Given the description of an element on the screen output the (x, y) to click on. 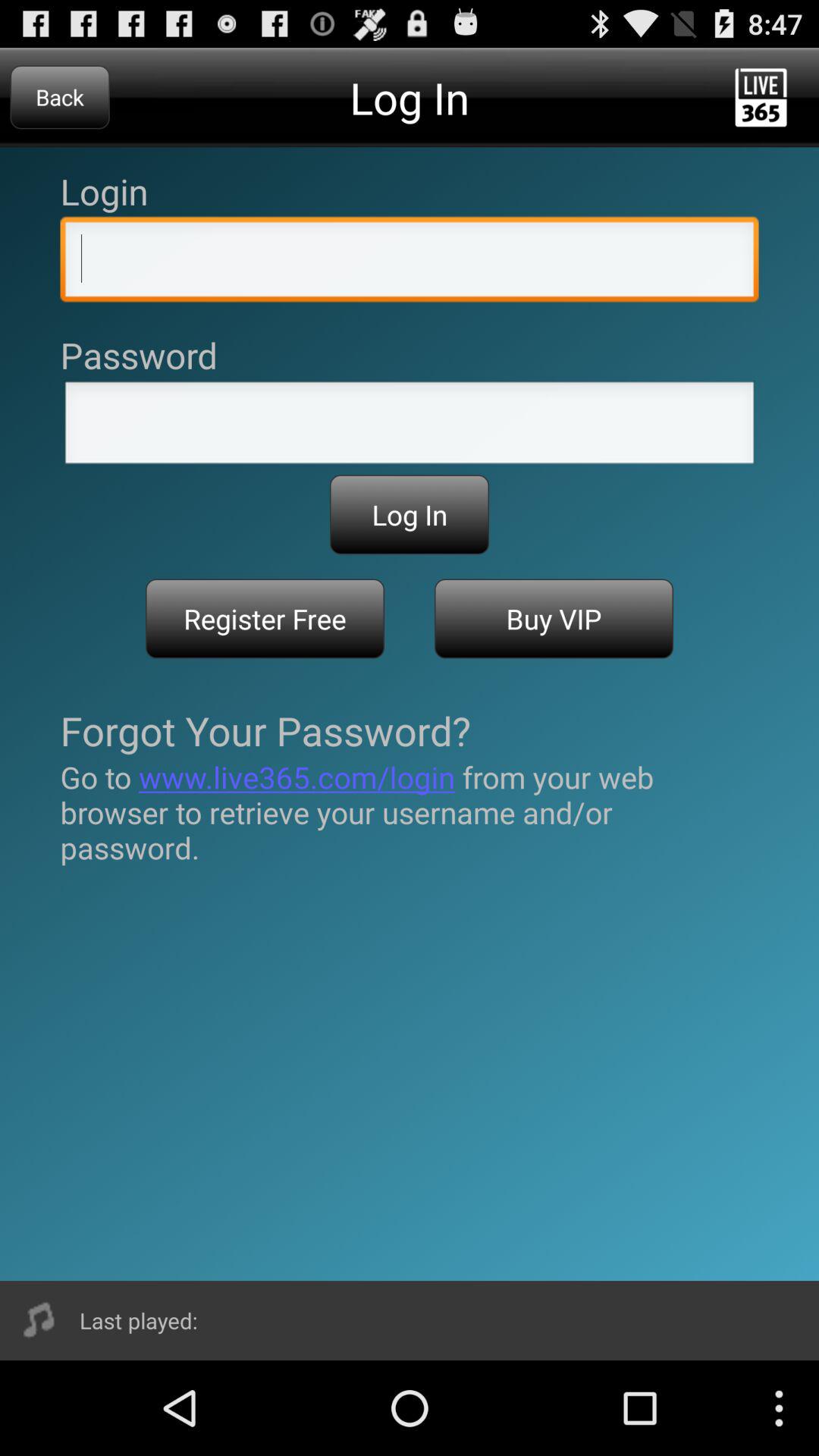
swipe until register free (264, 618)
